Given the description of an element on the screen output the (x, y) to click on. 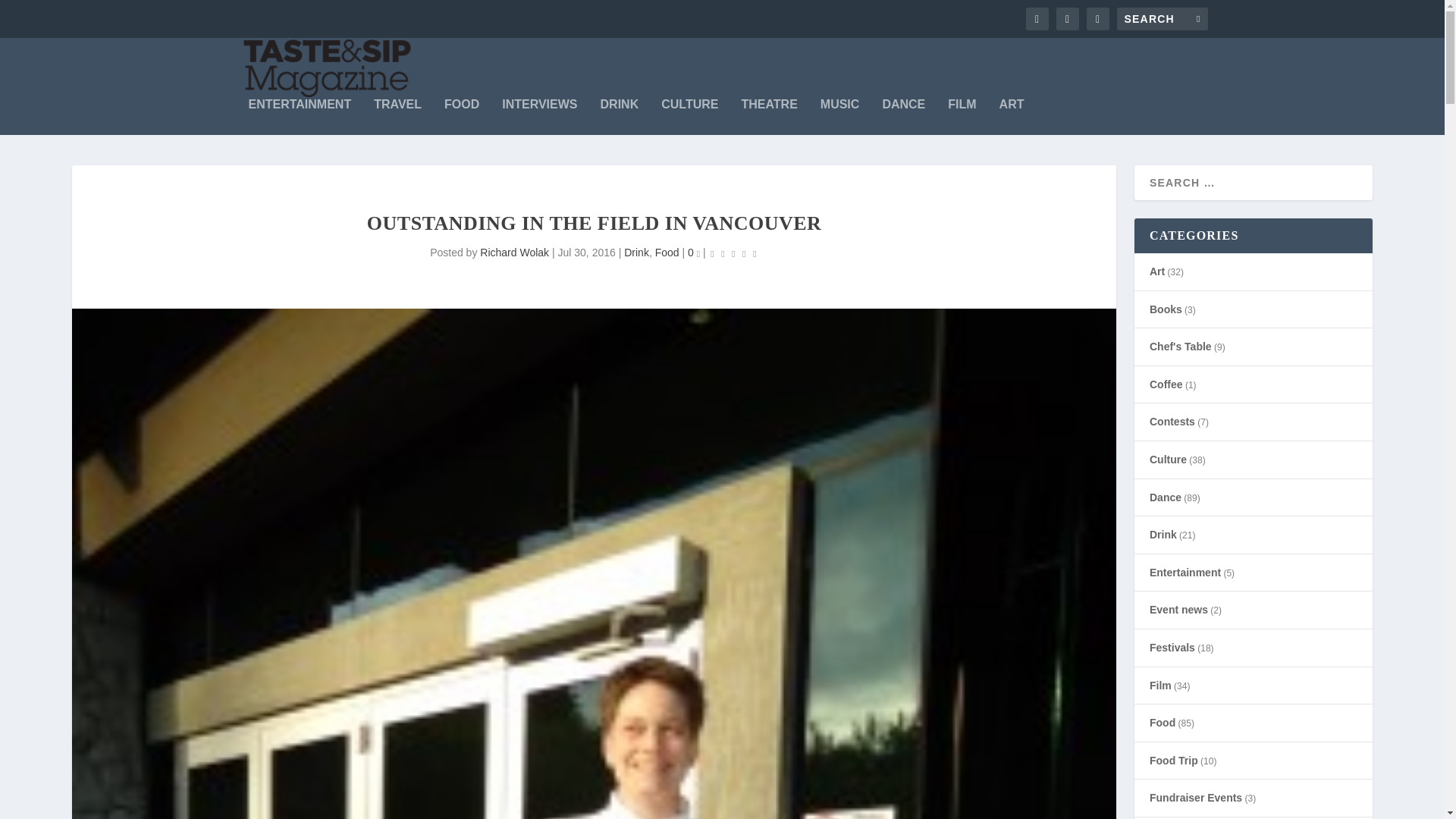
FOOD (461, 116)
Food (667, 252)
DRINK (619, 116)
0 (693, 252)
Search for: (1161, 18)
CULTURE (689, 116)
Posts by Richard Wolak (514, 252)
TRAVEL (398, 116)
Rating: 0.00 (733, 253)
Drink (636, 252)
MUSIC (840, 116)
INTERVIEWS (539, 116)
Richard Wolak (514, 252)
ENTERTAINMENT (300, 116)
THEATRE (768, 116)
